Given the description of an element on the screen output the (x, y) to click on. 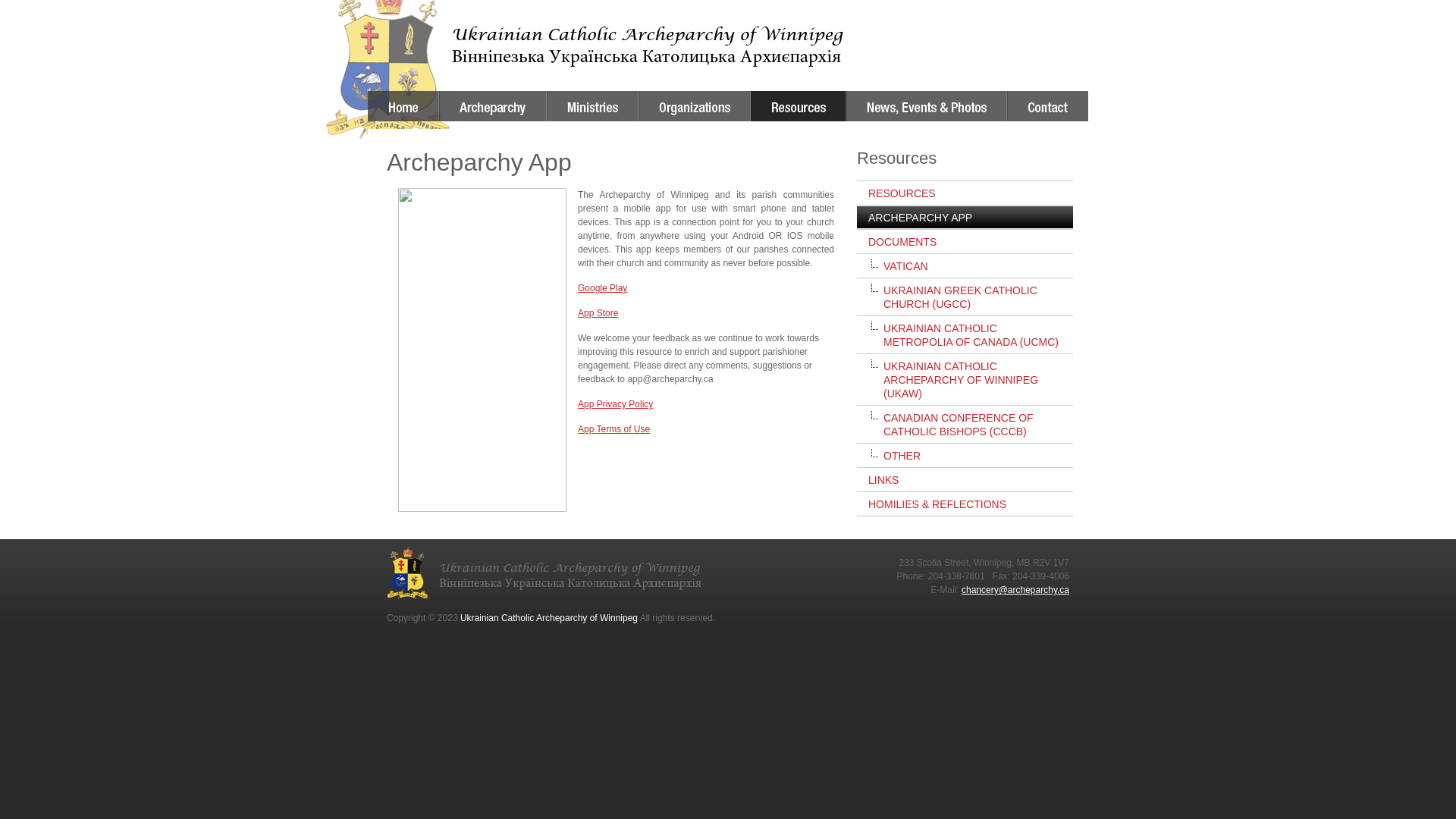
Ukrainian Catholic Archeparchy of Winnipeg Element type: text (606, 34)
UKRAINIAN CATHOLIC METROPOLIA OF CANADA (UCMC) Element type: text (964, 334)
DOCUMENTS Element type: text (964, 241)
Contact Element type: text (1047, 106)
Home Element type: text (403, 106)
Archeparchy Element type: text (492, 106)
OTHER Element type: text (964, 455)
News, Events & Photos Element type: text (926, 106)
Ministries Element type: text (592, 106)
App Terms of Use Element type: text (613, 428)
Organizations Element type: text (694, 106)
LINKS Element type: text (964, 479)
App Store Element type: text (597, 312)
Google Play Element type: text (602, 287)
chancery@archeparchy.ca Element type: text (1015, 589)
RESOURCES Element type: text (964, 192)
VATICAN Element type: text (964, 265)
UKRAINIAN CATHOLIC ARCHEPARCHY OF WINNIPEG (UKAW) Element type: text (964, 379)
CANADIAN CONFERENCE OF CATHOLIC BISHOPS (CCCB) Element type: text (964, 424)
App Privacy Policy Element type: text (614, 403)
HOMILIES & REFLECTIONS Element type: text (964, 503)
UKRAINIAN GREEK CATHOLIC CHURCH (UGCC) Element type: text (964, 296)
Resources Element type: text (798, 106)
ARCHEPARCHY APP Element type: text (964, 217)
